Given the description of an element on the screen output the (x, y) to click on. 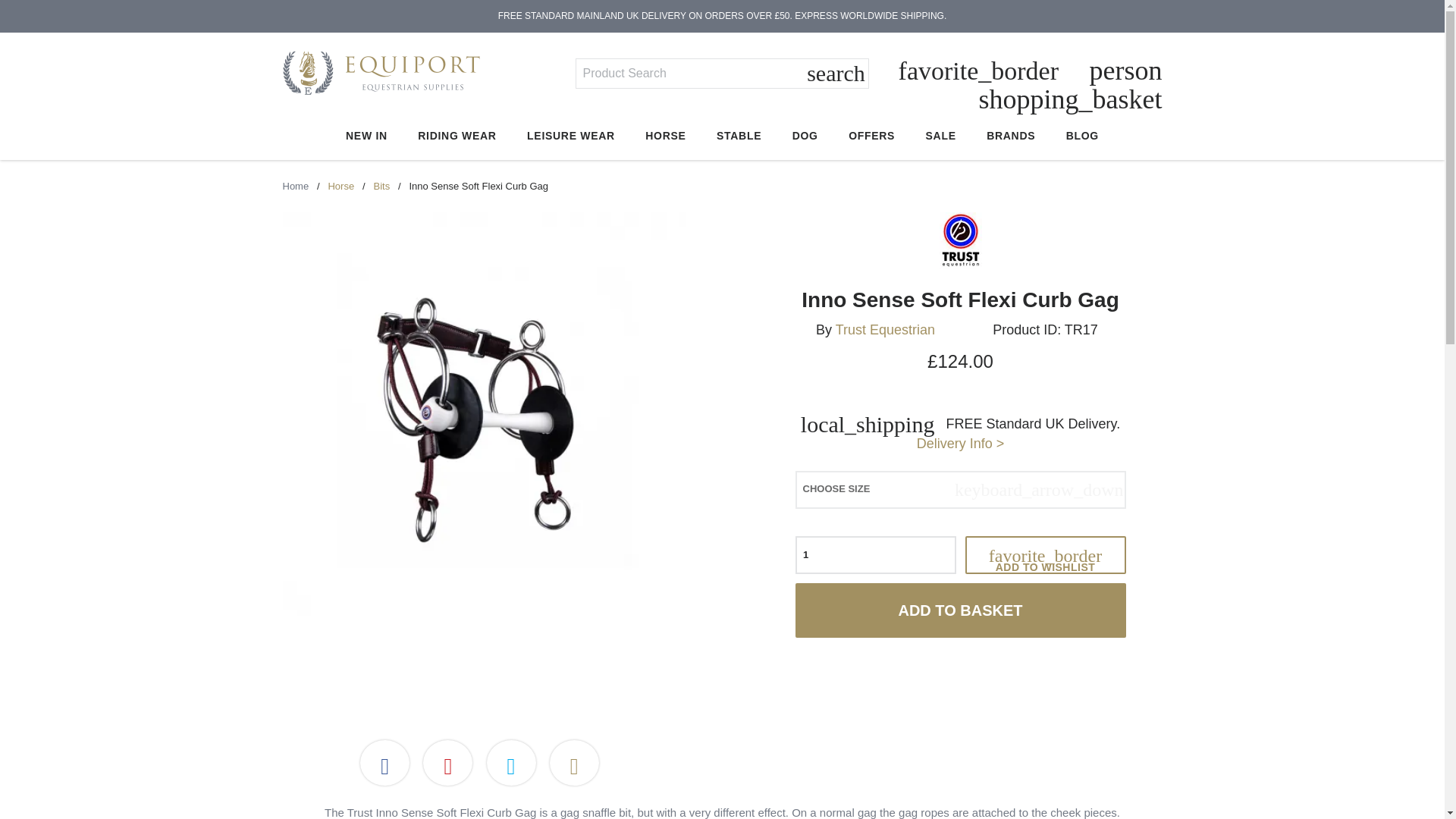
Add to my Wishlist (1044, 555)
NEW IN (366, 136)
Horse (340, 185)
1 (874, 555)
New In (366, 136)
Brands (1011, 136)
Trust Equestrian (884, 329)
search (835, 74)
person (1125, 70)
Products (381, 185)
